Given the description of an element on the screen output the (x, y) to click on. 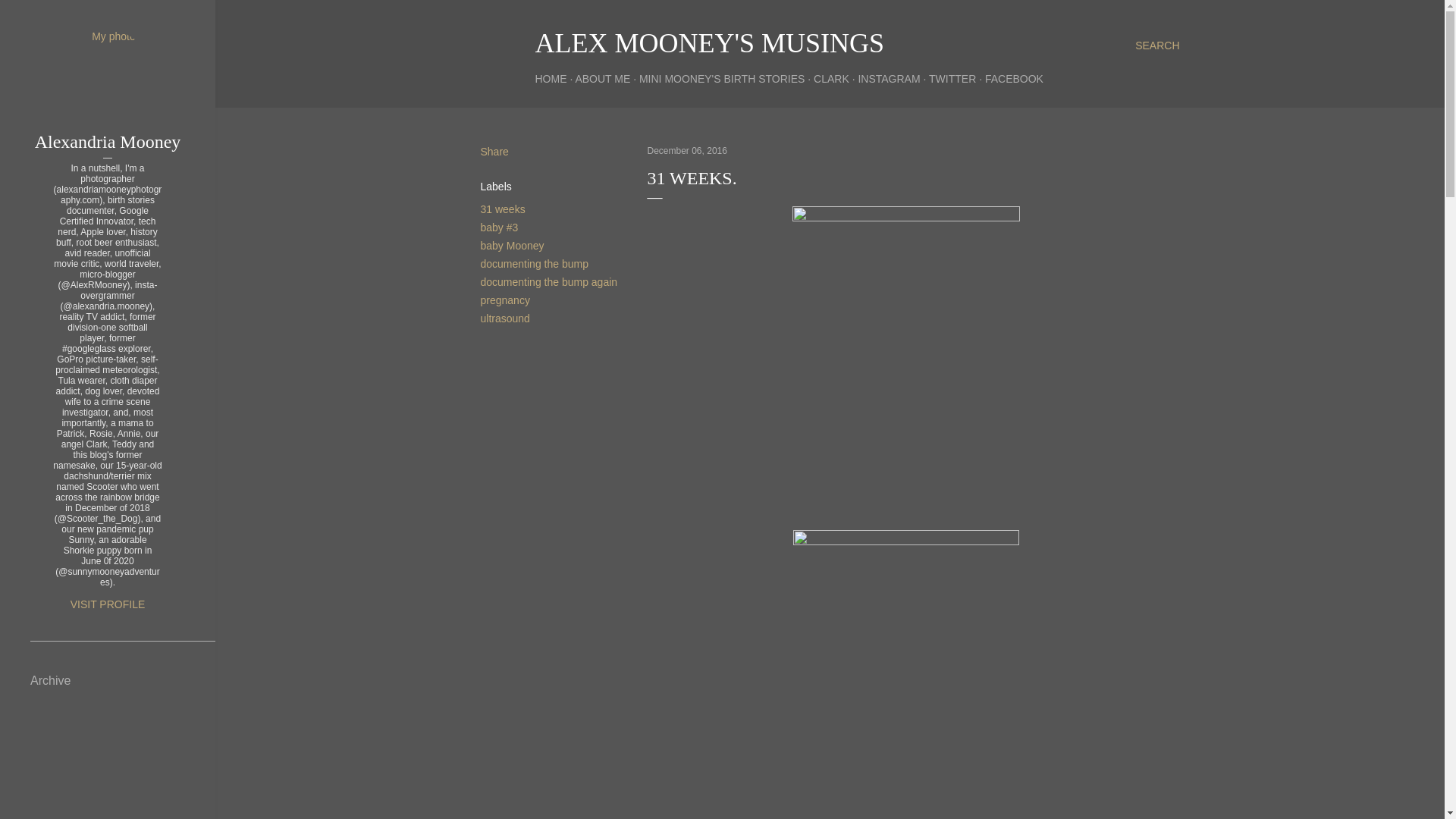
MINI MOONEY'S BIRTH STORIES (722, 78)
ABOUT ME (602, 78)
SEARCH (1157, 45)
HOME (551, 78)
permanent link (686, 150)
31 weeks (502, 209)
TWITTER (951, 78)
baby Mooney (512, 245)
CLARK (830, 78)
December 06, 2016 (686, 150)
pregnancy (504, 300)
documenting the bump again (548, 282)
FACEBOOK (1014, 78)
ultrasound (504, 318)
ALEX MOONEY'S MUSINGS (710, 42)
